Given the description of an element on the screen output the (x, y) to click on. 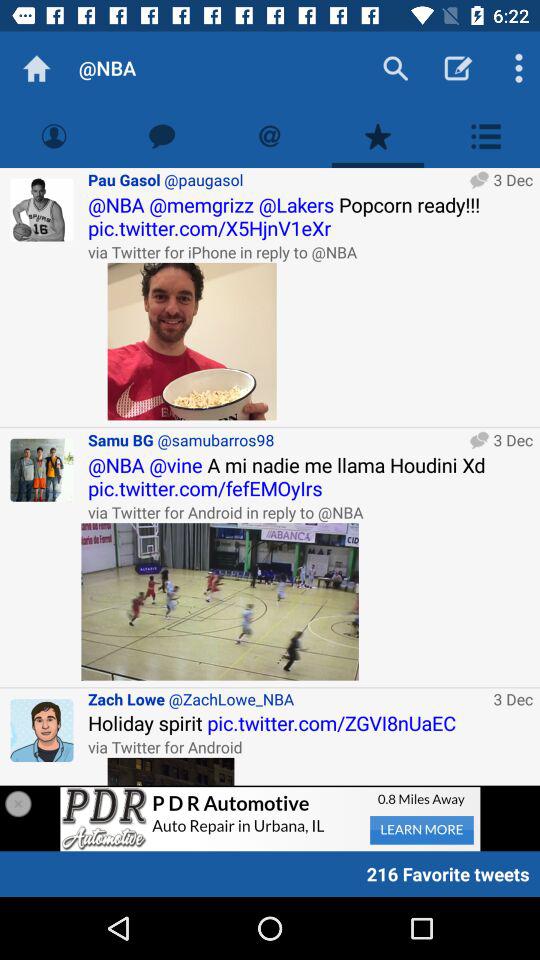
view profile page (54, 136)
